Given the description of an element on the screen output the (x, y) to click on. 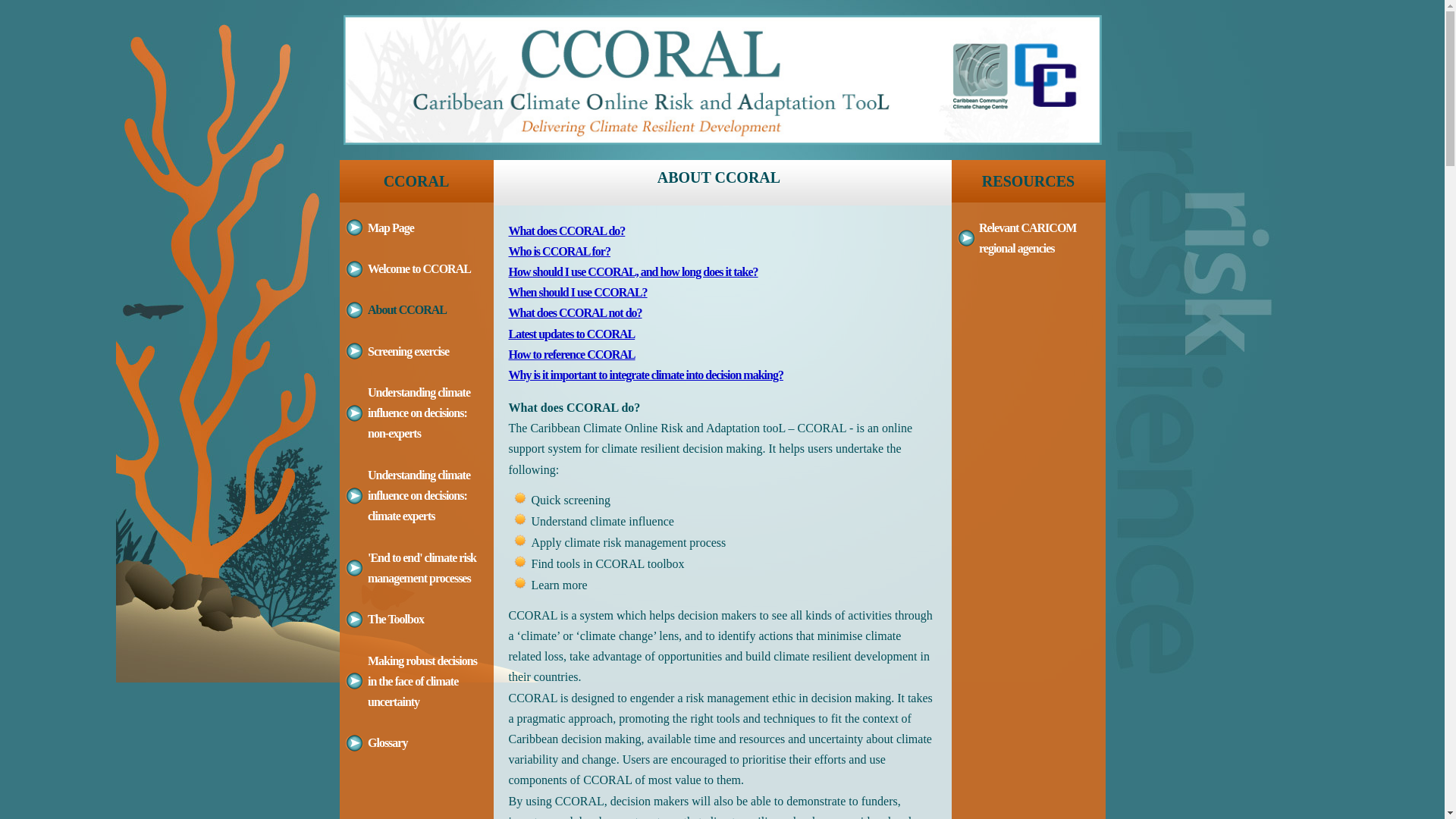
How to reference CCORAL Element type: text (571, 354)
About CCORAL Element type: text (406, 309)
Who is CCORAL for? Element type: text (558, 250)
How should I use CCORAL, and how long does it take? Element type: text (632, 271)
Understanding climate influence on decisions: non-experts Element type: text (418, 412)
Glossary Element type: text (387, 742)
Welcome to CCORAL Element type: text (418, 268)
When should I use CCORAL? Element type: text (577, 291)
What does CCORAL not do? Element type: text (574, 312)
Making robust decisions in the face of climate uncertainty Element type: text (421, 681)
'End to end' climate risk management processes Element type: text (421, 567)
Screening exercise Element type: text (407, 351)
What does CCORAL do? Element type: text (566, 230)
Map Page Element type: text (390, 227)
The Toolbox Element type: text (395, 618)
Latest updates to CCORAL Element type: text (571, 333)
Relevant CARICOM regional agencies Element type: text (1027, 237)
